Given the description of an element on the screen output the (x, y) to click on. 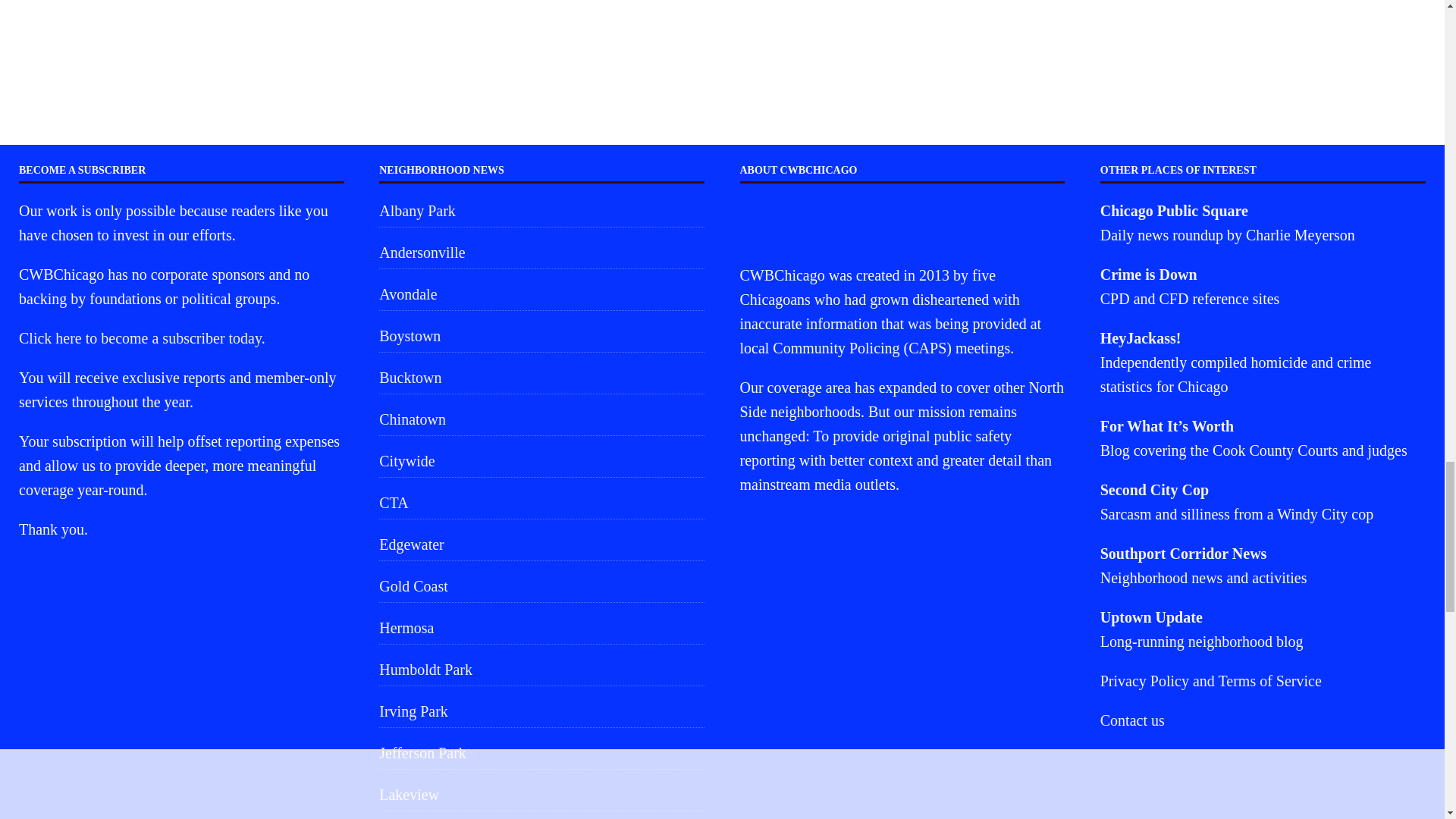
Boystown (541, 336)
Albany Park (541, 212)
Bucktown (541, 377)
Avondale (541, 294)
Andersonville (541, 252)
Chinatown (541, 418)
Click here to become a subscriber today. (141, 338)
